Given the description of an element on the screen output the (x, y) to click on. 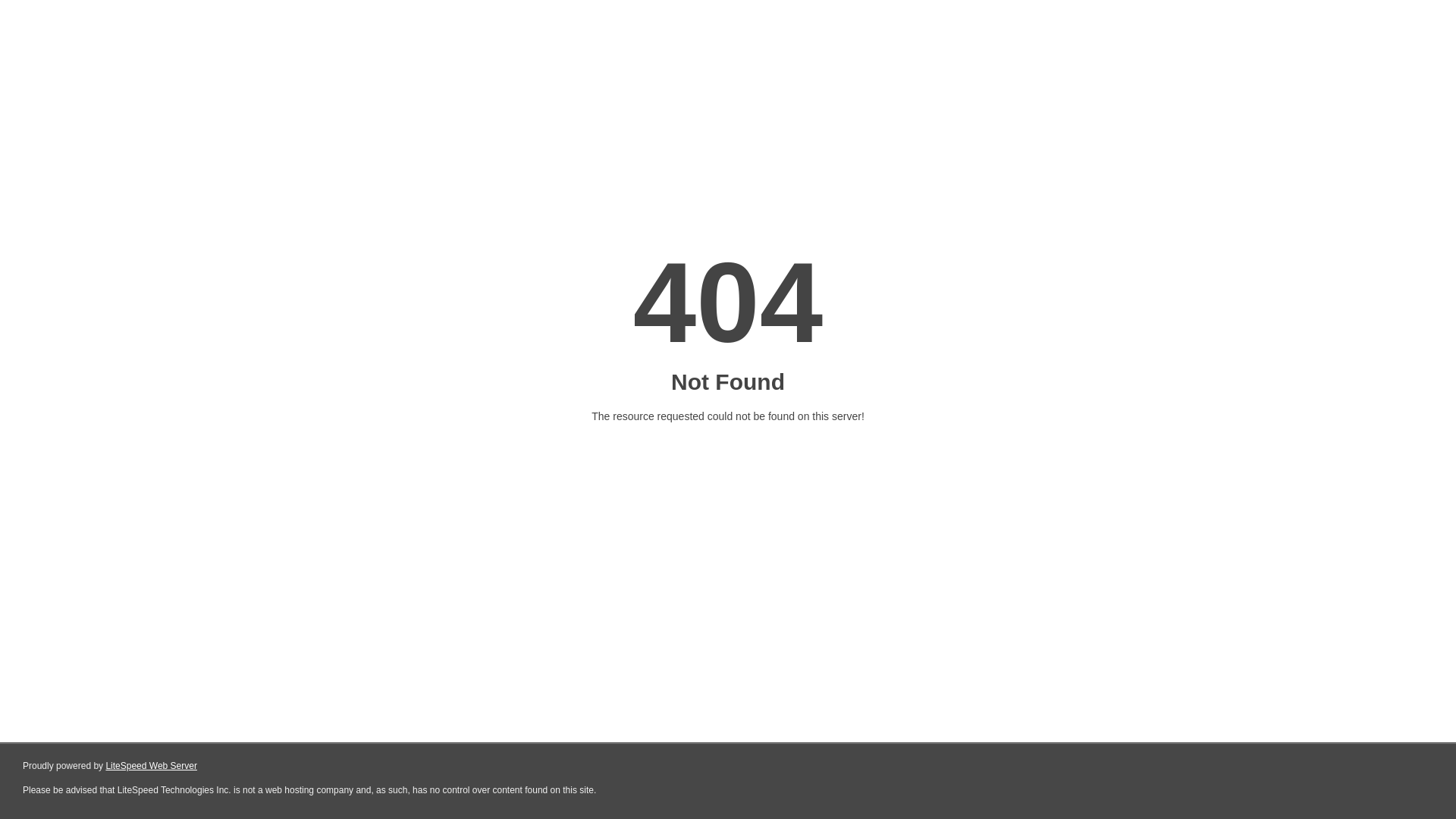
LiteSpeed Web Server Element type: text (151, 765)
